Given the description of an element on the screen output the (x, y) to click on. 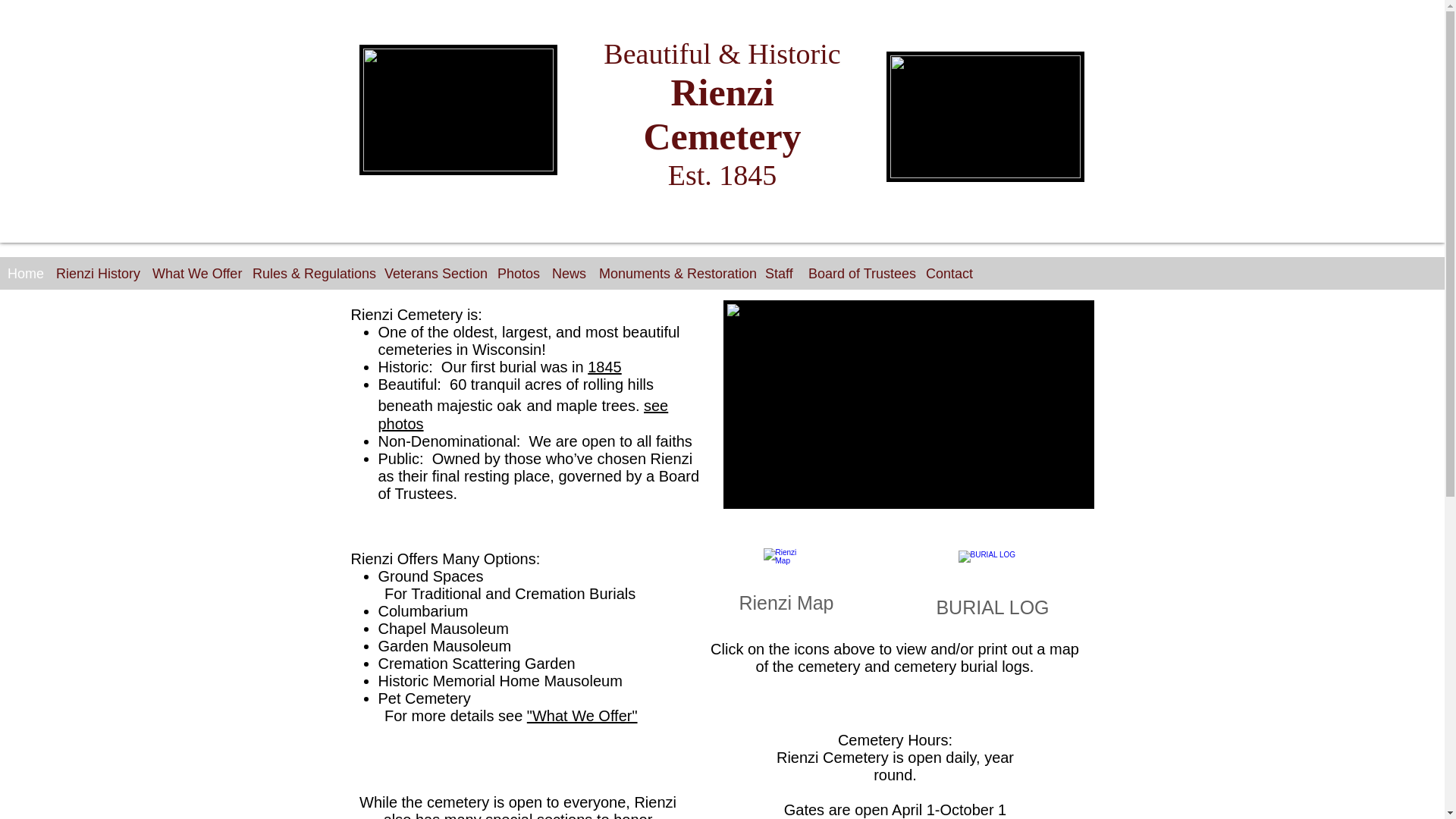
Home (24, 273)
Veterans Section (433, 273)
Contact (948, 273)
What We Offer (194, 273)
1845 (604, 366)
see photos (522, 414)
"What We Offer" (582, 715)
Board of Trustees (859, 273)
BURIAL LOG (991, 586)
Photos (516, 273)
